Given the description of an element on the screen output the (x, y) to click on. 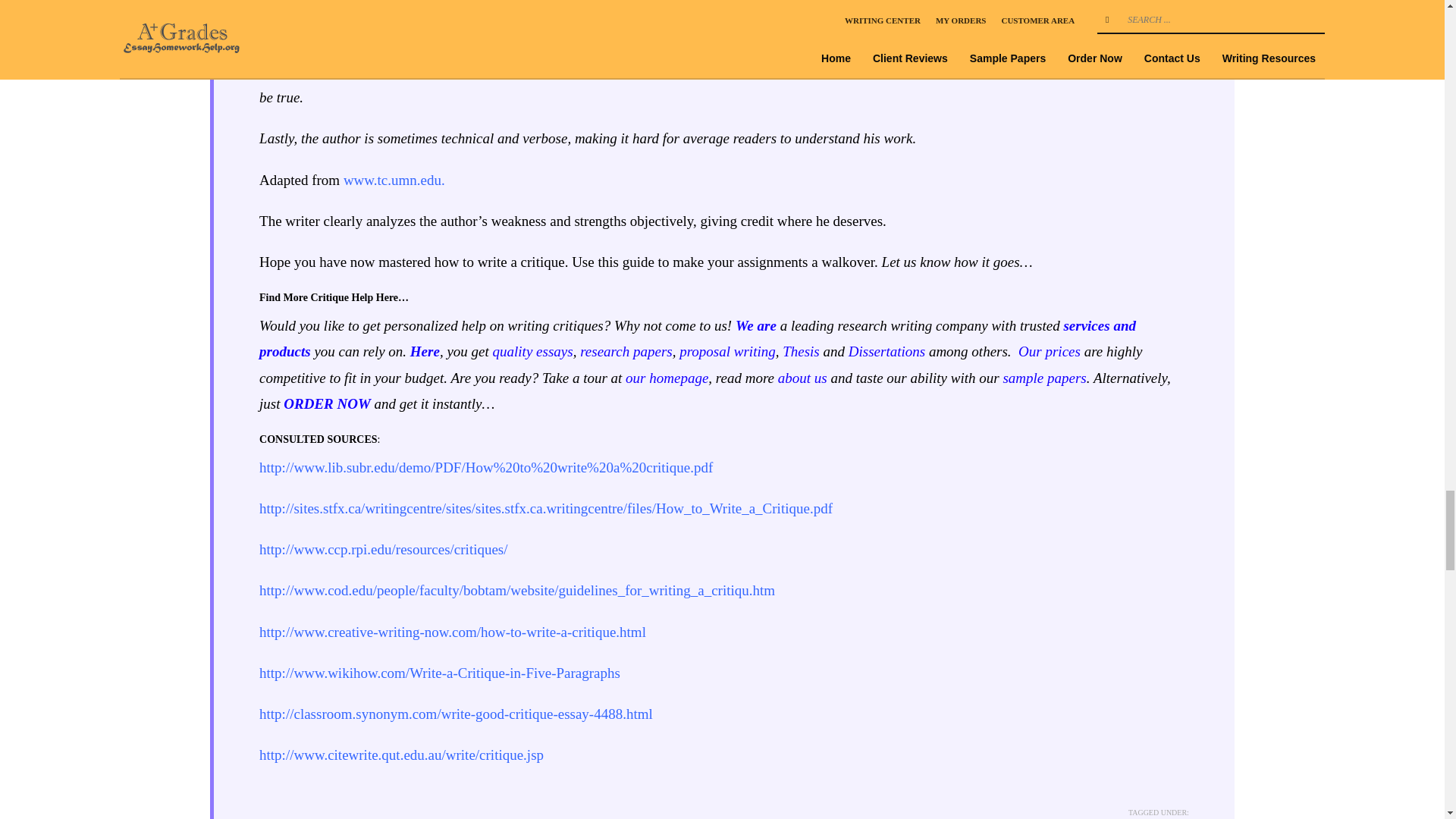
our homepage (666, 377)
Here (424, 351)
We are (755, 325)
sample papers (1044, 377)
ORDER NOW (327, 403)
services and products (697, 338)
Dissertations (886, 351)
about us (802, 377)
proposal writing (727, 351)
www.tc.umn.edu (392, 179)
quality essays (533, 351)
research papers (625, 351)
Thesis (801, 351)
Our prices (1048, 351)
